Given the description of an element on the screen output the (x, y) to click on. 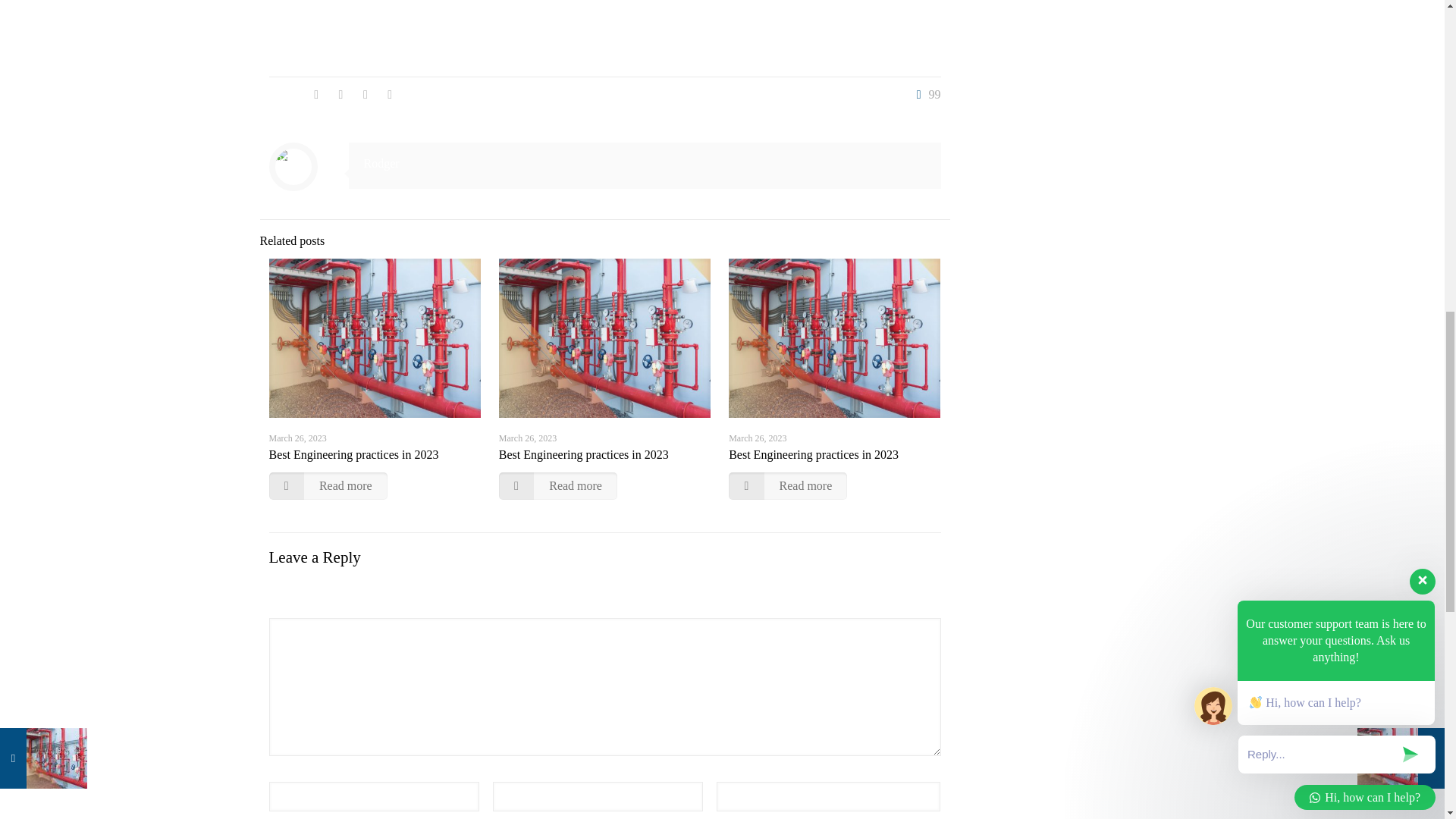
Rodger (381, 163)
99 (925, 94)
Read more (558, 485)
Best Engineering practices in 2023 (583, 454)
Best Engineering practices in 2023 (352, 454)
Read more (327, 485)
Best Engineering practices in 2023 (813, 454)
